Given the description of an element on the screen output the (x, y) to click on. 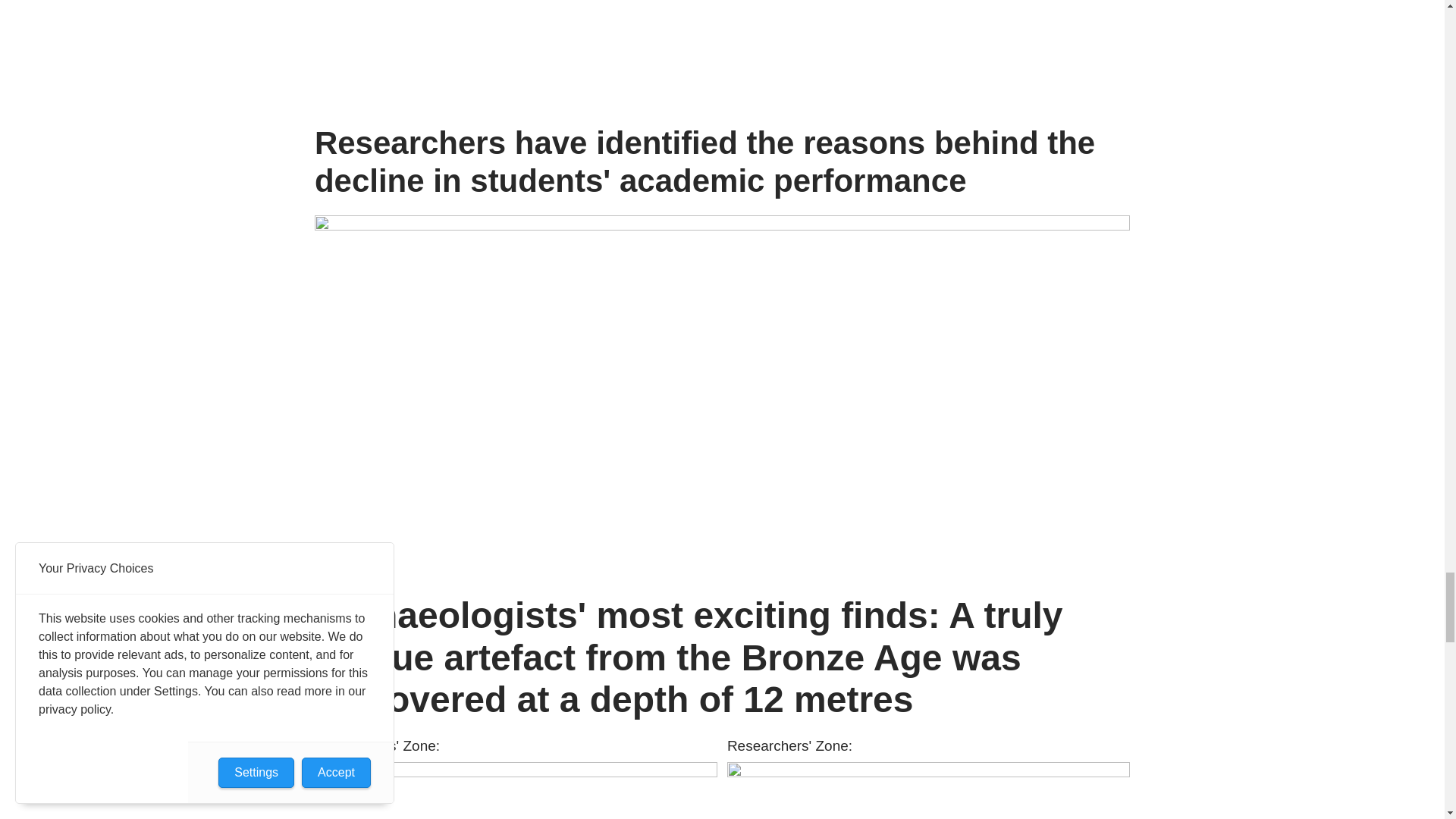
Baby corals are attracted to the sound of a healthy reef (927, 790)
